Given the description of an element on the screen output the (x, y) to click on. 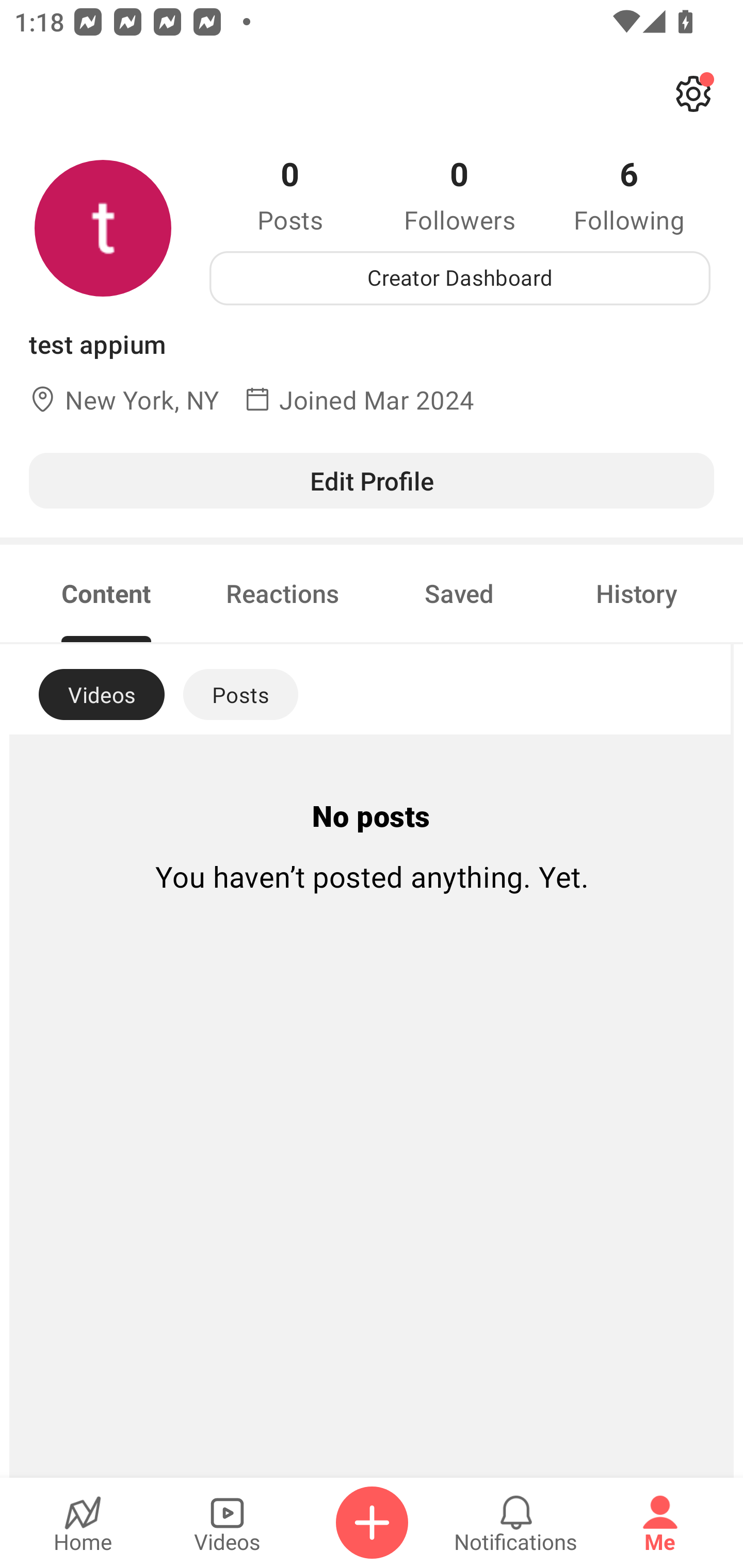
0 Followers (459, 194)
6 Following (629, 194)
Creator Dashboard (459, 277)
Edit Profile (371, 480)
Reactions (282, 593)
Saved (459, 593)
History (636, 593)
Posts (240, 694)
Home (83, 1522)
Videos (227, 1522)
Notifications (516, 1522)
